Given the description of an element on the screen output the (x, y) to click on. 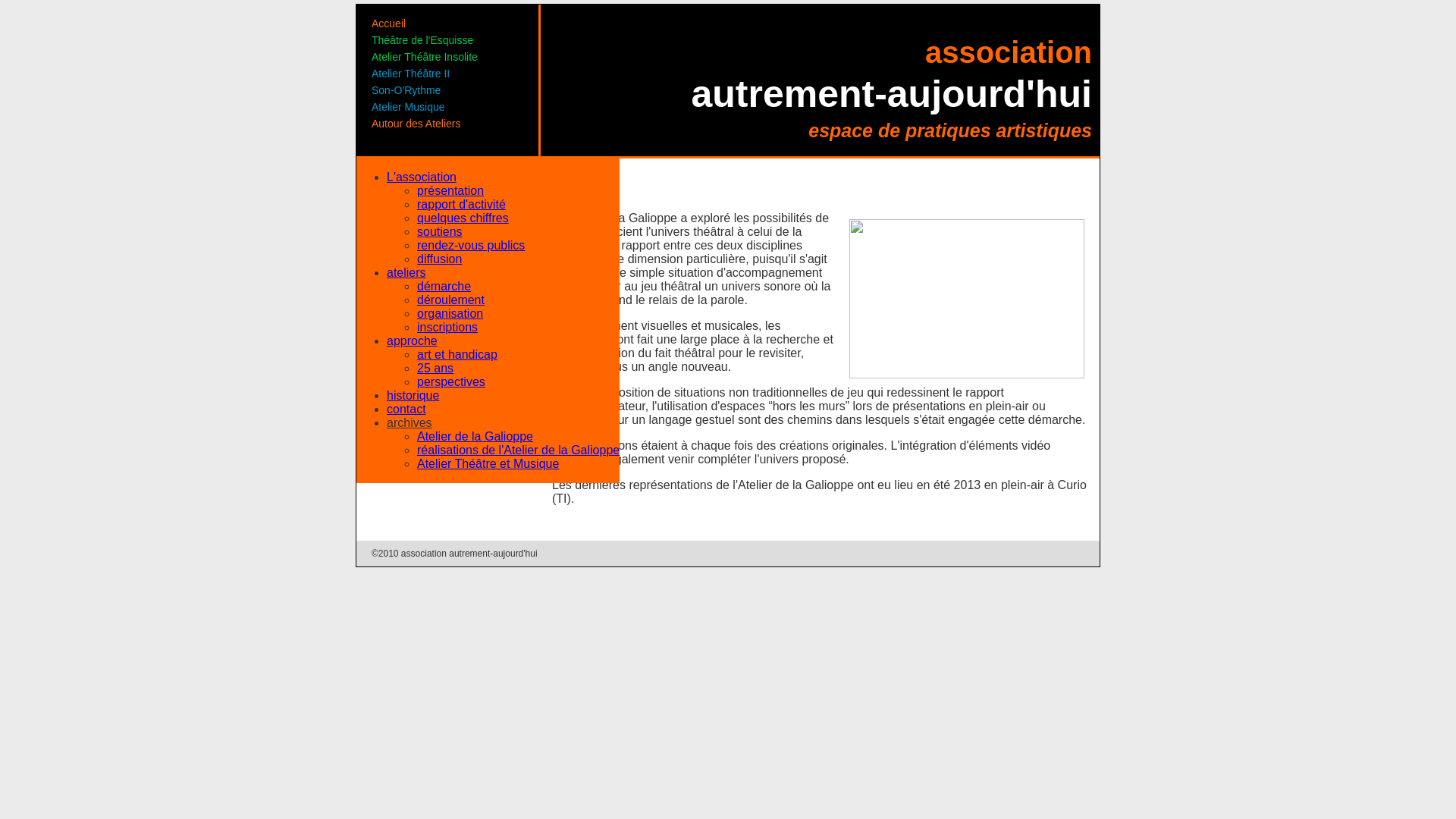
diffusion Element type: text (439, 258)
Atelier Musique Element type: text (408, 106)
rendez-vous publics Element type: text (470, 244)
Atelier de la Galioppe Element type: text (475, 435)
approche Element type: text (411, 340)
quelques chiffres Element type: text (462, 217)
Son-O'Rythme Element type: text (405, 90)
contact Element type: text (406, 408)
organisation Element type: text (450, 313)
soutiens Element type: text (439, 231)
L'association Element type: text (421, 176)
Accueil Element type: text (388, 23)
inscriptions Element type: text (447, 326)
Autour des Ateliers Element type: text (416, 123)
historique Element type: text (412, 395)
25 ans Element type: text (435, 367)
art et handicap Element type: text (457, 354)
perspectives Element type: text (451, 381)
ateliers Element type: text (406, 272)
archives Element type: text (409, 422)
